Given the description of an element on the screen output the (x, y) to click on. 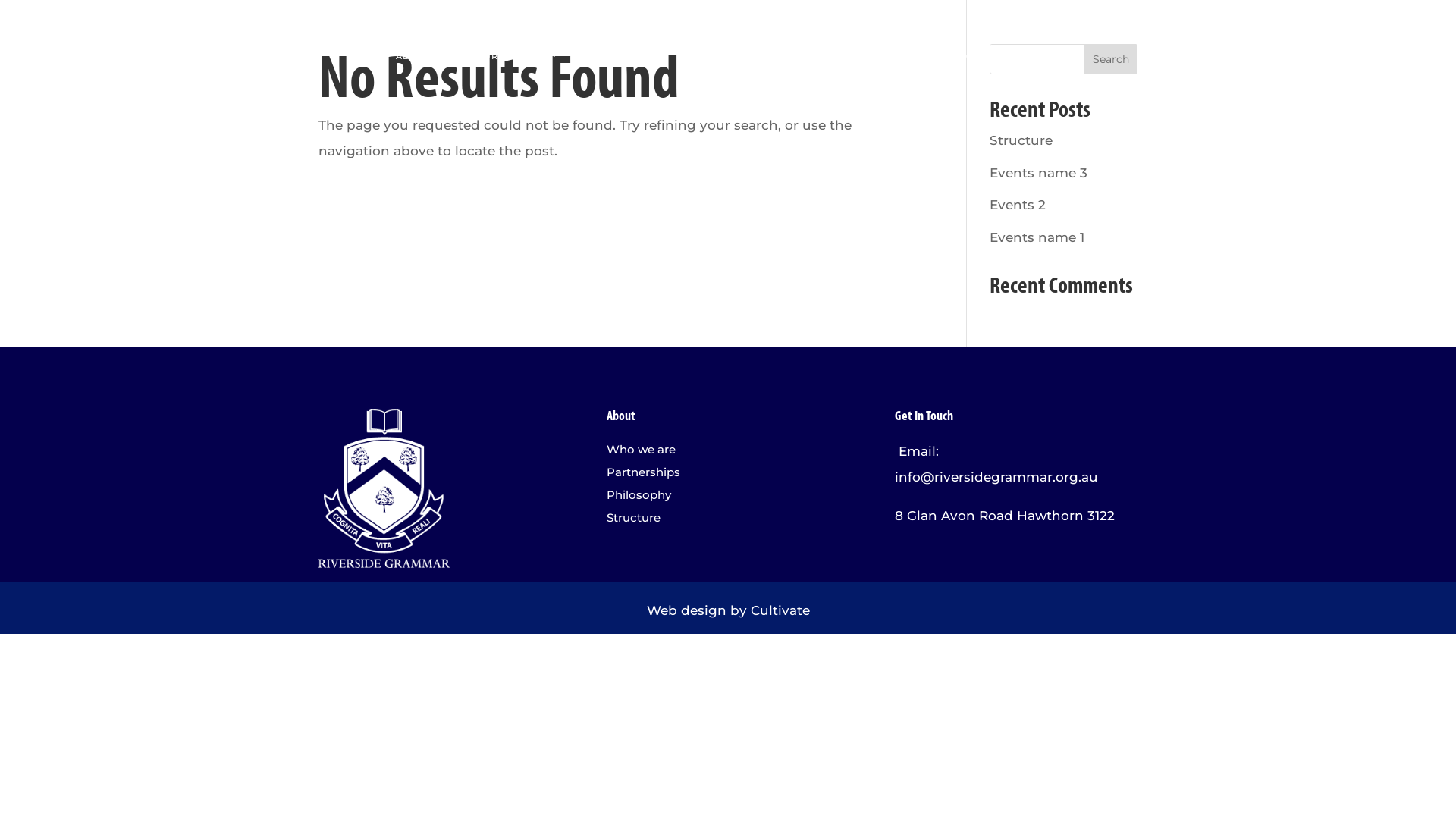
Philosophy Element type: text (727, 497)
Search Element type: text (1110, 58)
Asset 1 Element type: hover (383, 487)
info Element type: text (962, 54)
Partnerships Element type: text (727, 475)
co-curricular Element type: text (861, 54)
Web design by Cultivate Element type: text (727, 610)
Structure Element type: text (727, 520)
Who we are Element type: text (727, 452)
contact Element type: text (1037, 54)
Events name 1 Element type: text (1036, 236)
Events 2 Element type: text (1017, 204)
about Element type: text (420, 54)
Events name 3 Element type: text (1038, 172)
curriculum Element type: text (517, 54)
Structure Element type: text (1020, 139)
campuses Element type: text (626, 54)
info@riversidegrammar.org.au Element type: text (996, 475)
